Given the description of an element on the screen output the (x, y) to click on. 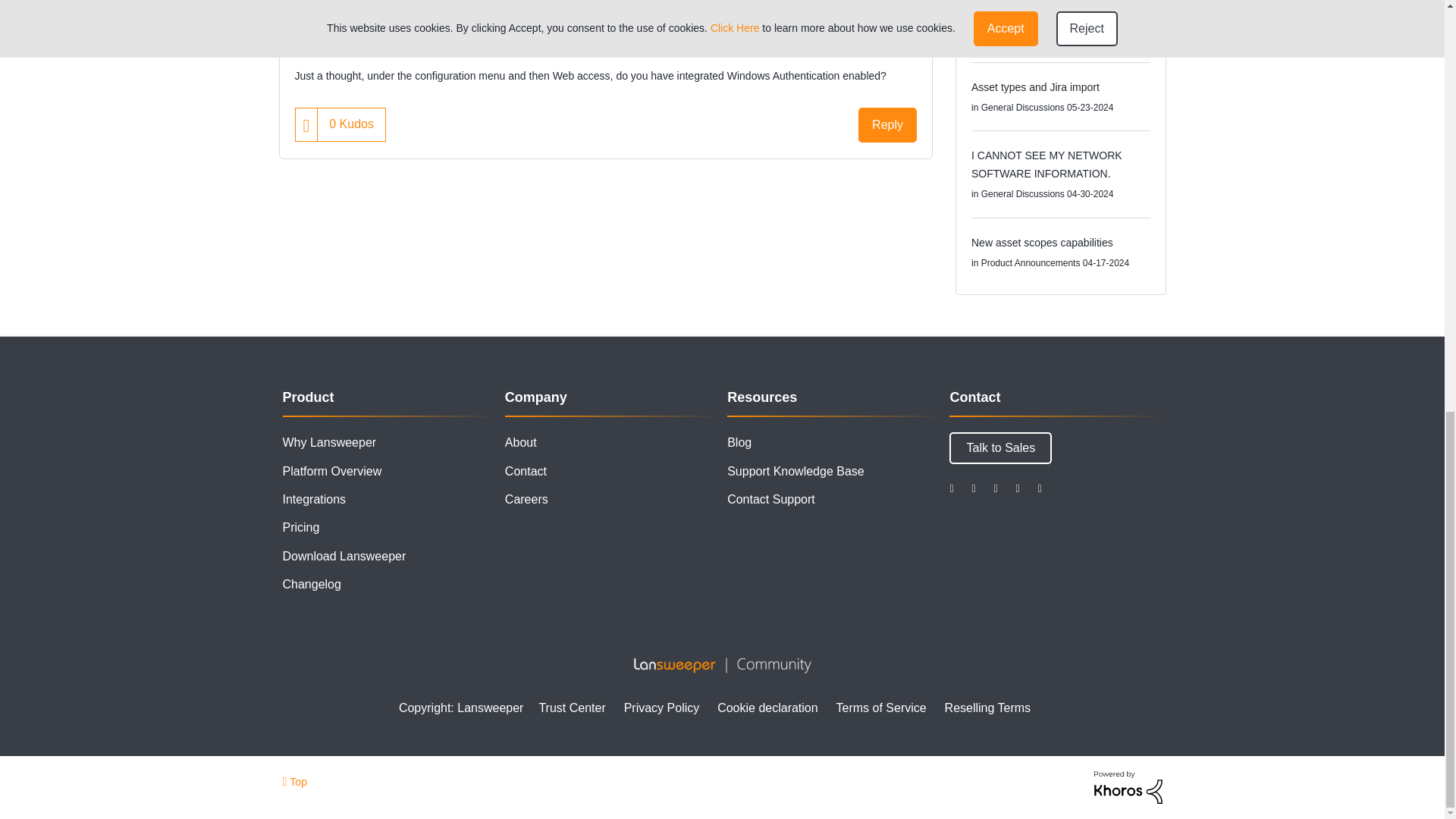
Top (293, 780)
Top (293, 780)
